Given the description of an element on the screen output the (x, y) to click on. 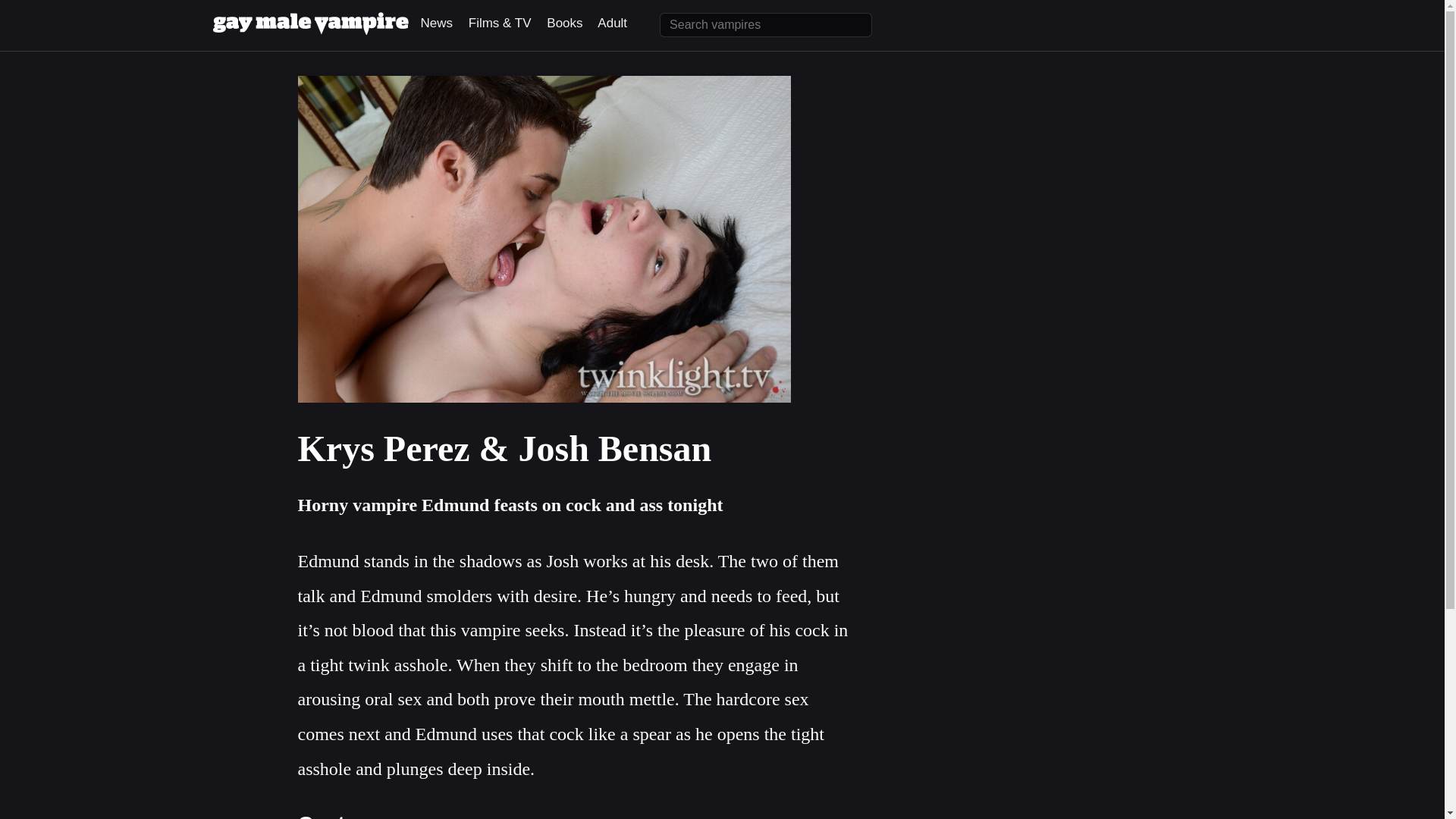
Adult (611, 22)
Books (564, 22)
News (436, 22)
